Given the description of an element on the screen output the (x, y) to click on. 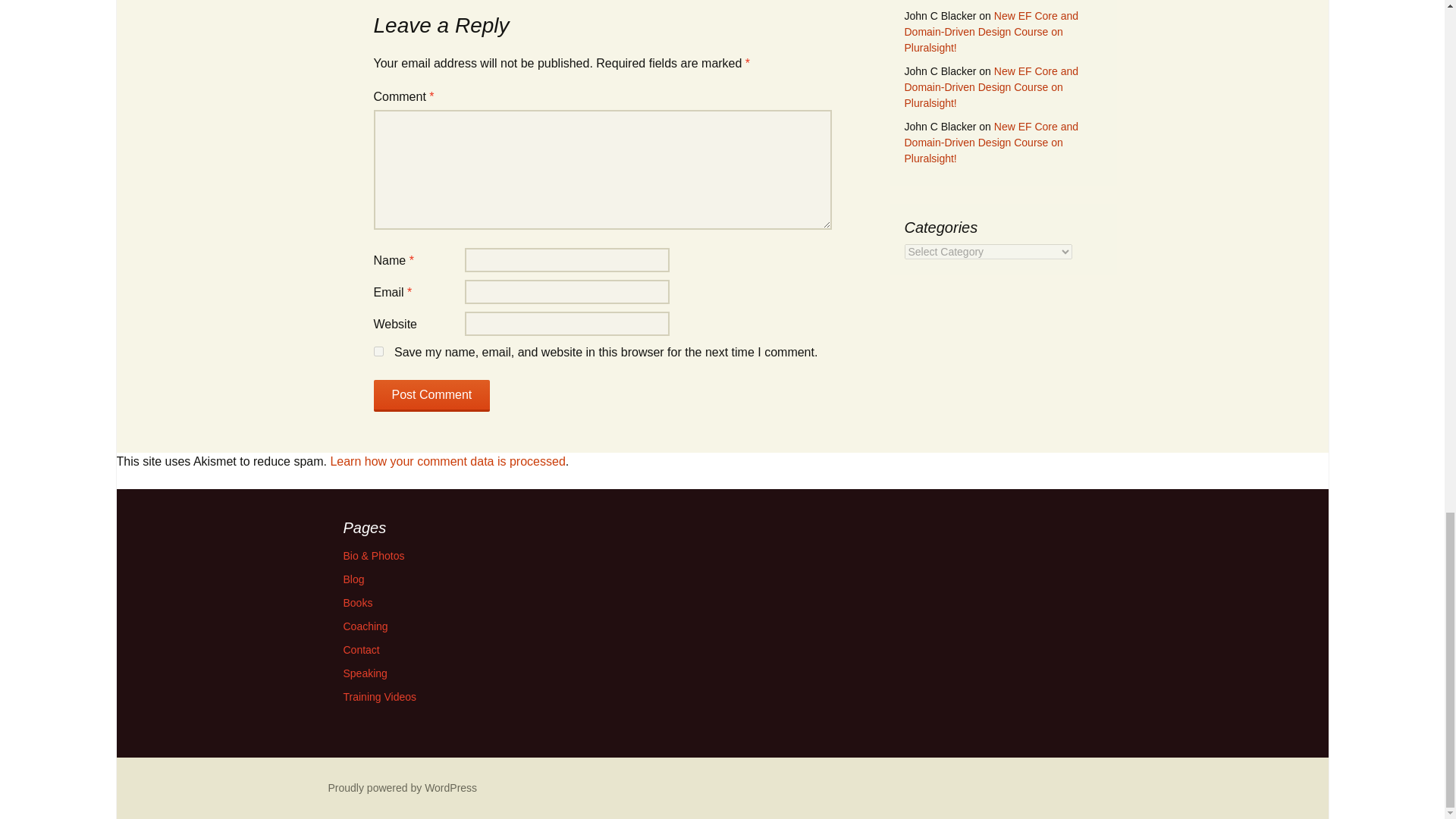
yes (377, 351)
Post Comment (430, 395)
Post Comment (430, 395)
Learn how your comment data is processed (447, 461)
